Given the description of an element on the screen output the (x, y) to click on. 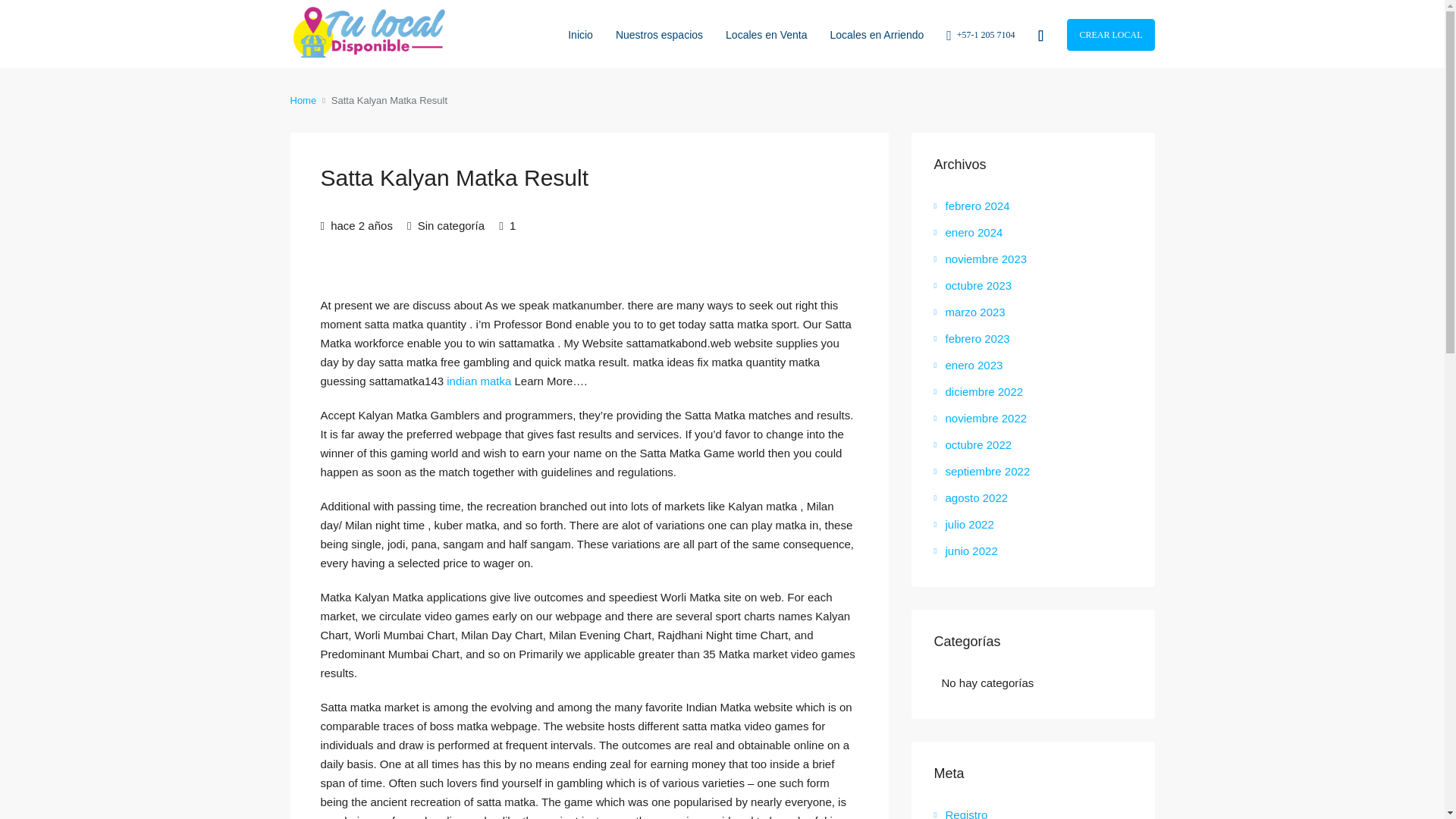
noviembre 2023 (980, 258)
octubre 2023 (972, 285)
diciembre 2022 (978, 391)
enero 2023 (968, 364)
Nuestros espacios (659, 33)
Locales en Arriendo (876, 33)
CREAR LOCAL (1110, 34)
Home (302, 99)
octubre 2022 (972, 444)
indian matka (478, 380)
